Given the description of an element on the screen output the (x, y) to click on. 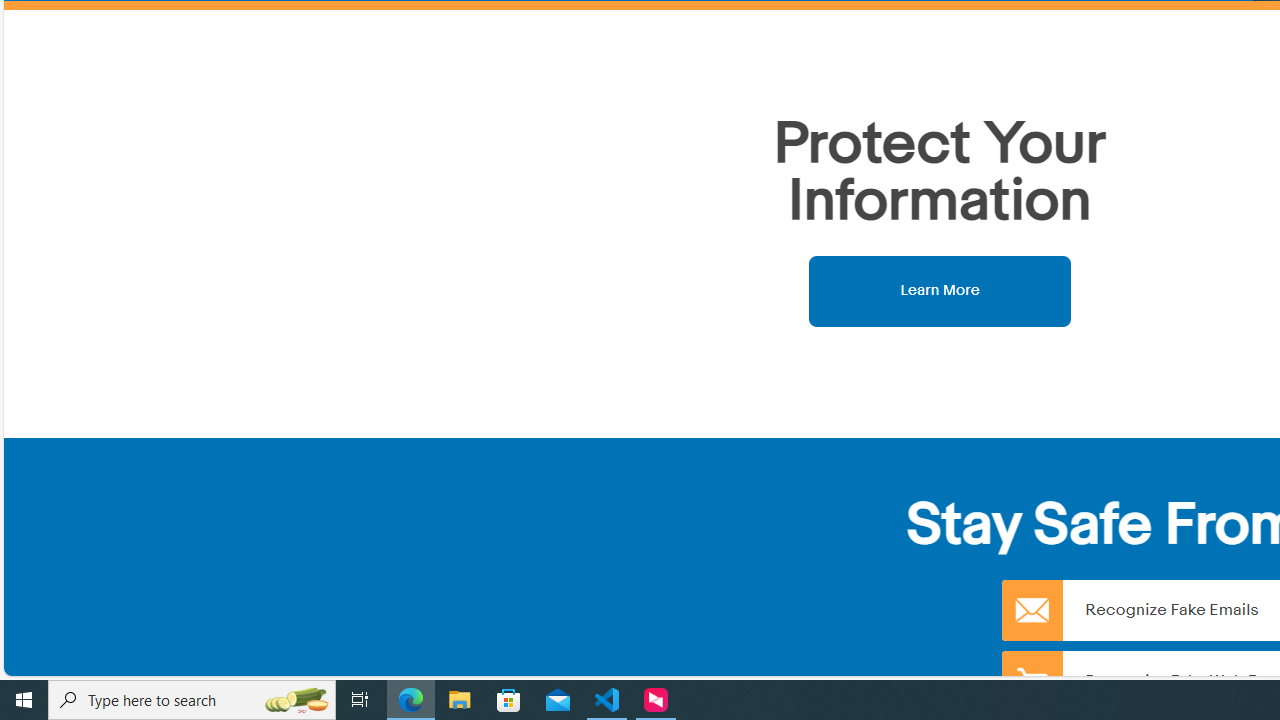
Learn More (939, 290)
